Given the description of an element on the screen output the (x, y) to click on. 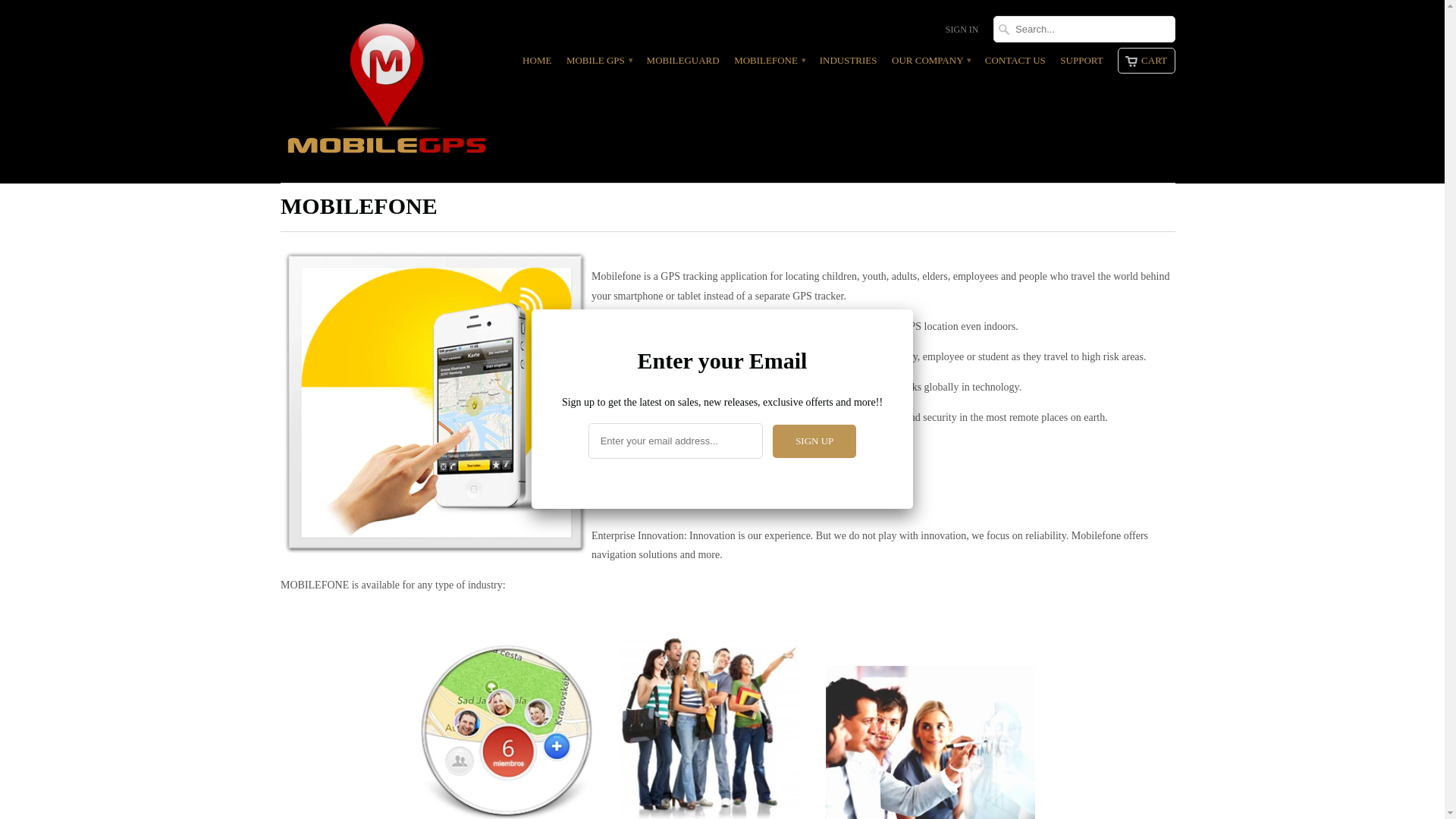
SUPPORT (1080, 64)
MOBILEGUARD (682, 64)
Cart (1146, 60)
SIGN IN (961, 33)
Sign Up (814, 441)
HOME (536, 64)
CART (1146, 60)
CONTACT US (1015, 64)
MOBILE GPS (387, 91)
INDUSTRIES (848, 64)
